Given the description of an element on the screen output the (x, y) to click on. 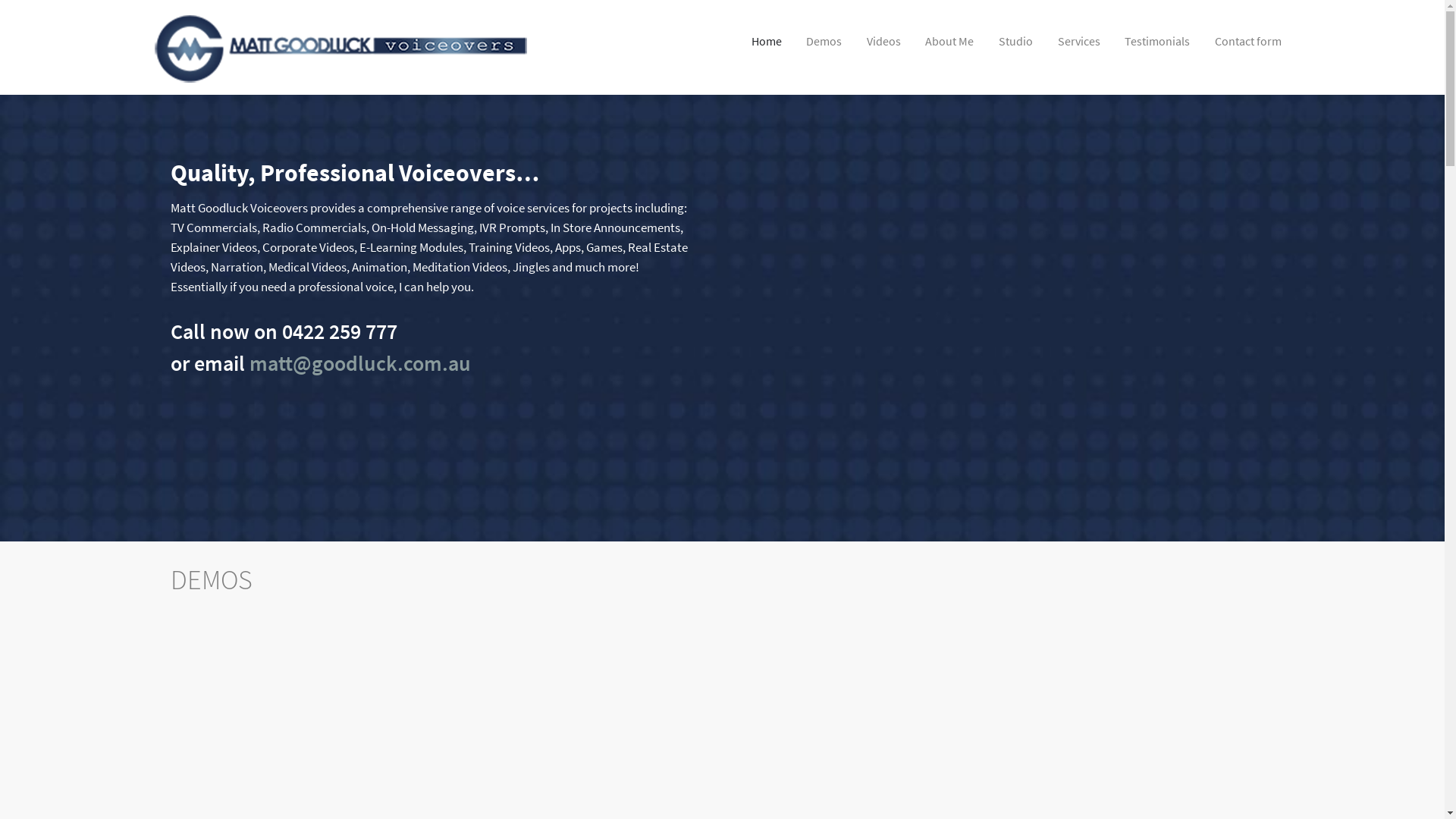
Demos Element type: text (823, 40)
Services Element type: text (1078, 40)
About Me Element type: text (949, 40)
Studio Element type: text (1015, 40)
Home Element type: text (766, 40)
Videos Element type: text (883, 40)
Testimonials Element type: text (1157, 40)
Contact form Element type: text (1247, 40)
matt@goodluck.com.au Element type: text (359, 362)
